Given the description of an element on the screen output the (x, y) to click on. 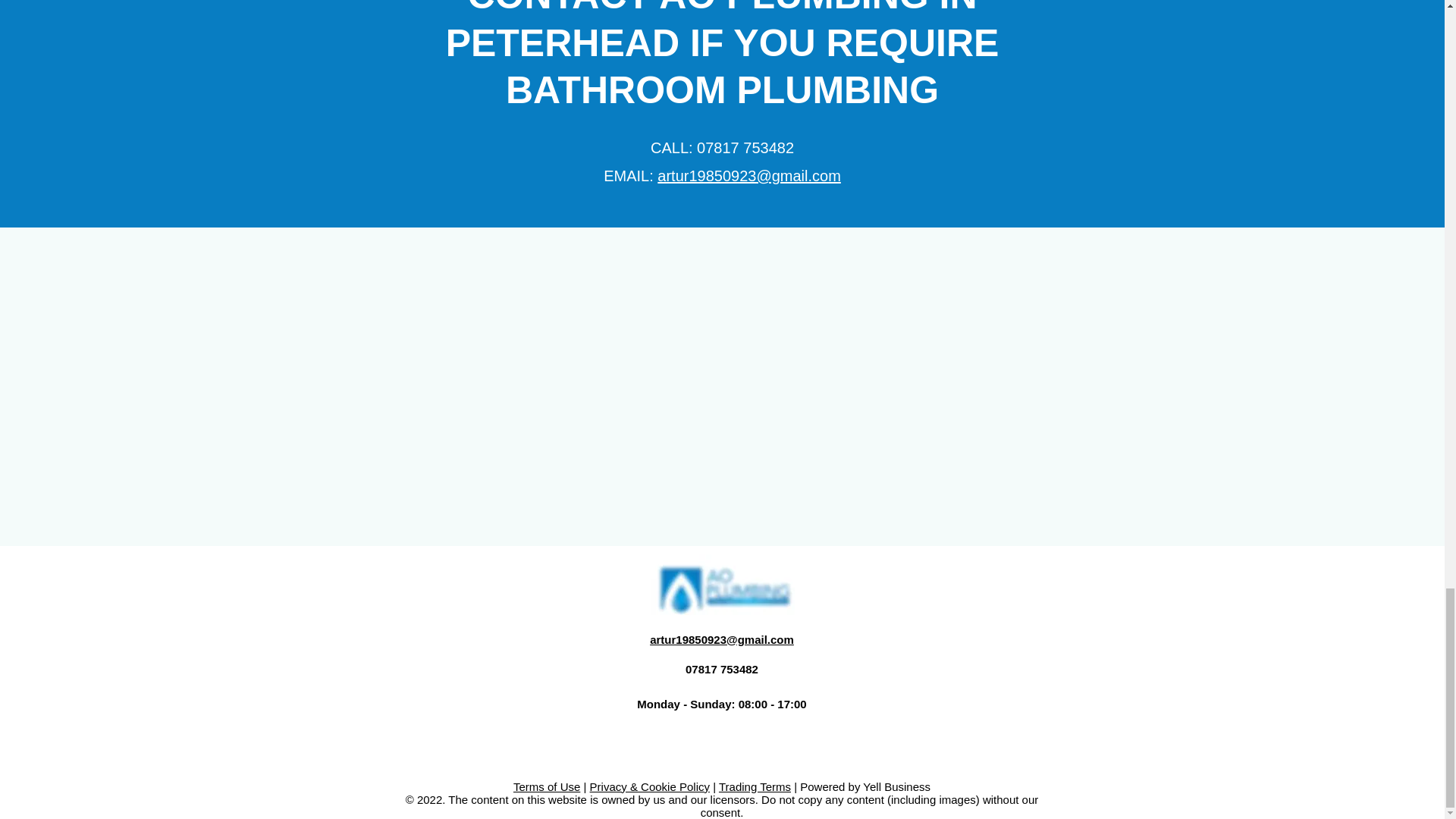
Trading Terms (754, 786)
Terms of Use (546, 786)
